Given the description of an element on the screen output the (x, y) to click on. 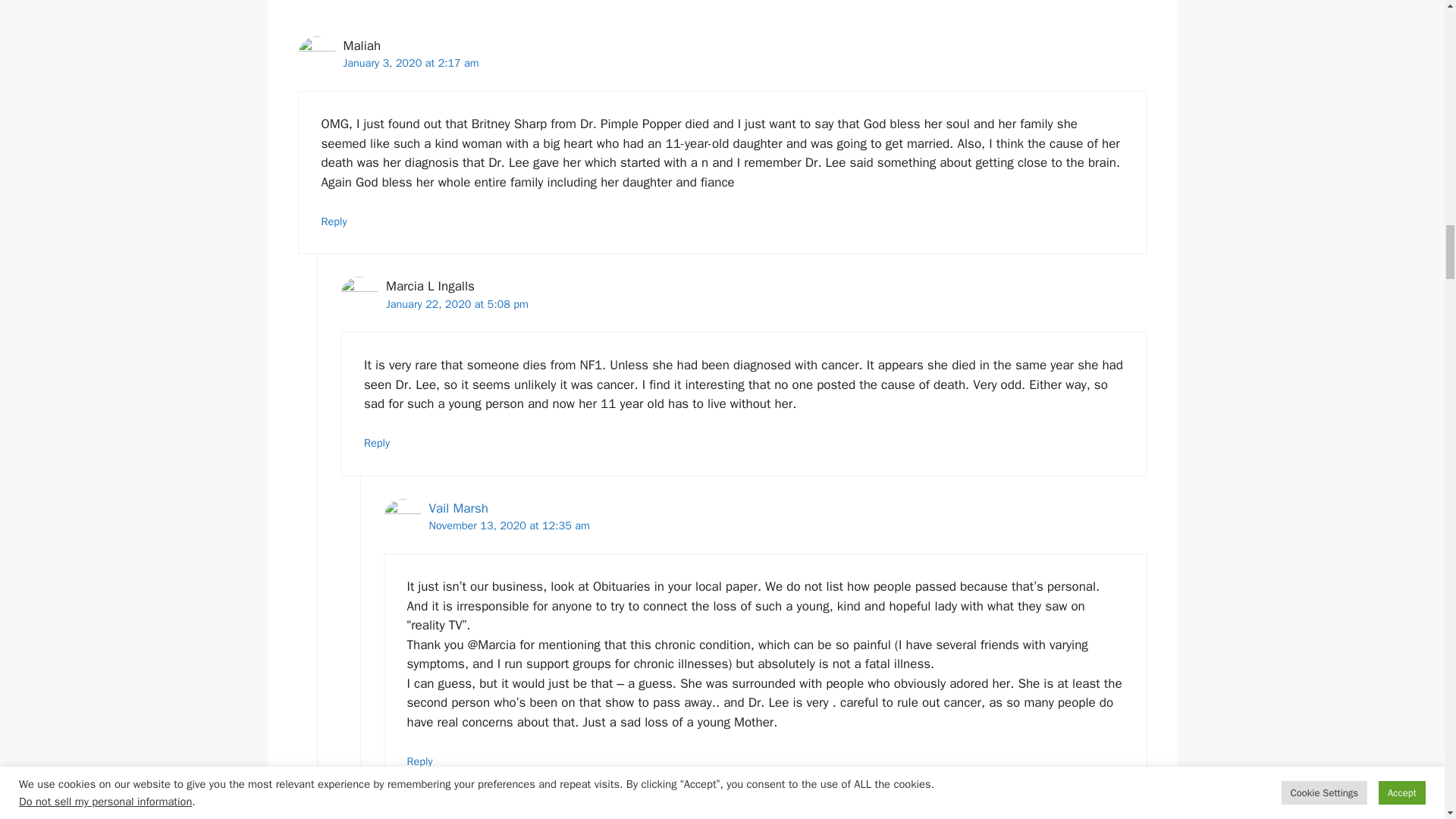
November 13, 2020 at 12:35 am (509, 525)
January 3, 2020 at 2:17 am (410, 62)
Reply (334, 221)
Reply (377, 442)
January 22, 2020 at 5:08 pm (456, 304)
Vail Marsh (458, 508)
